Given the description of an element on the screen output the (x, y) to click on. 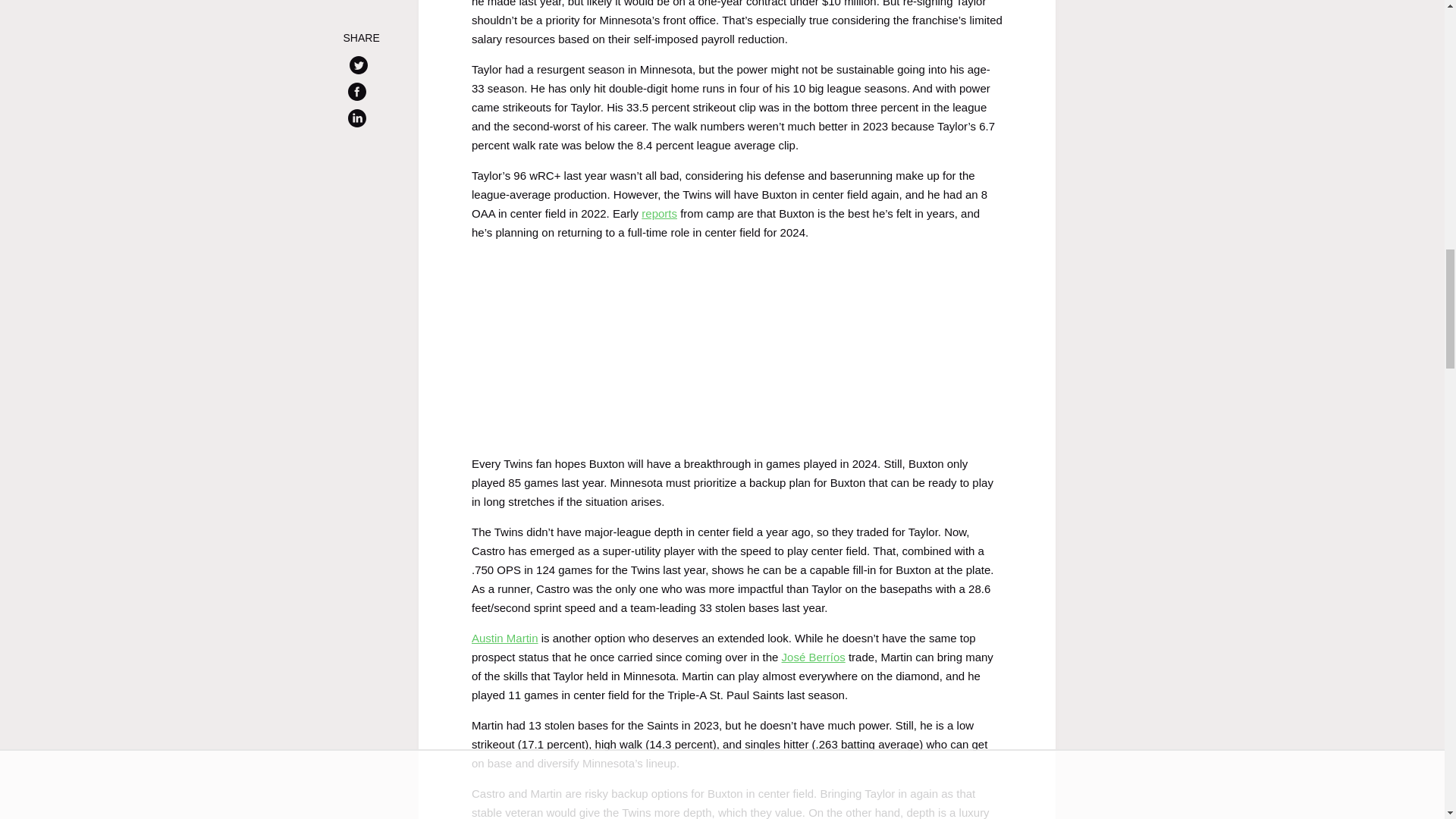
Austin Martin (504, 637)
reports (659, 213)
